Given the description of an element on the screen output the (x, y) to click on. 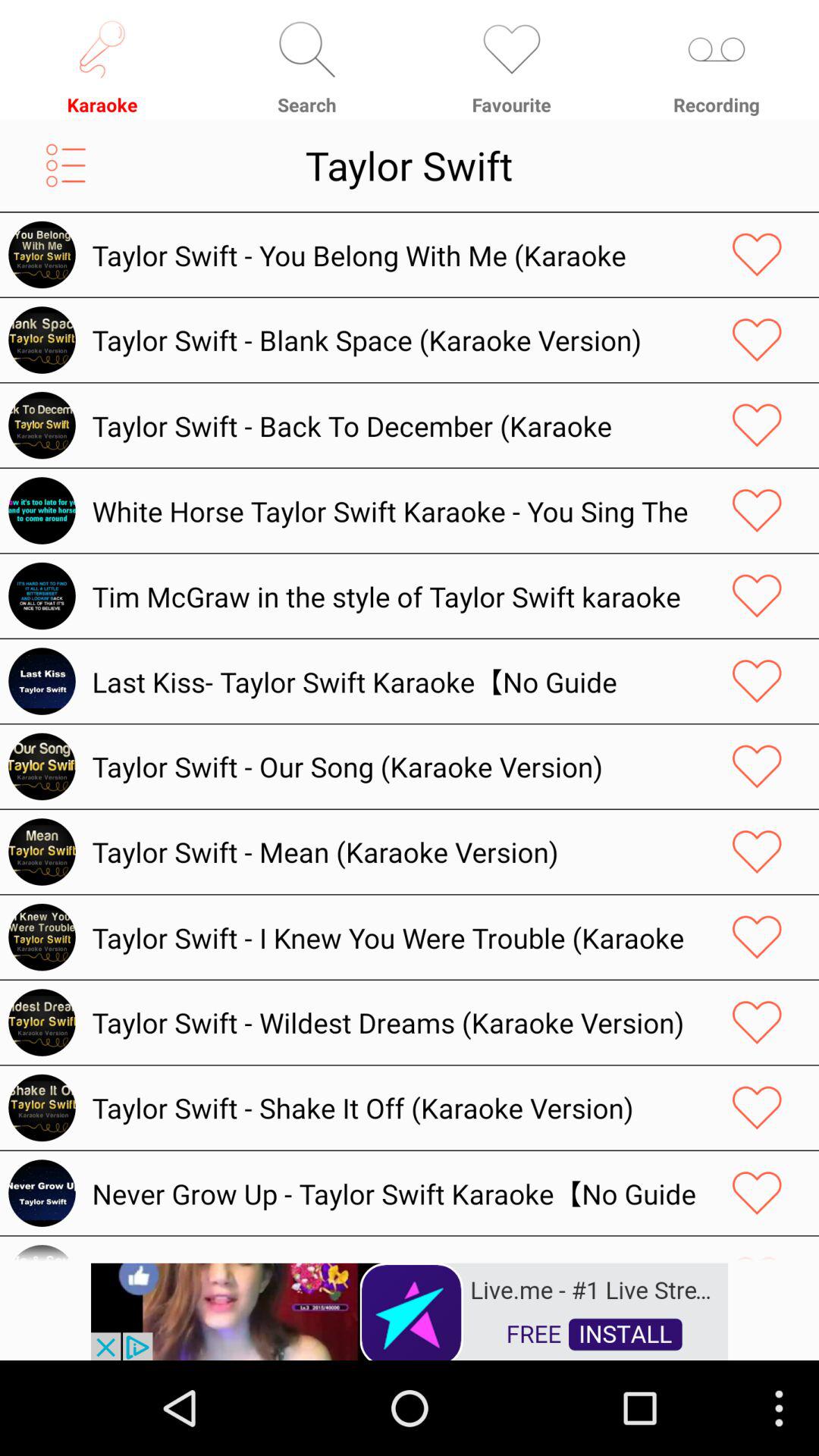
add song to favorites (756, 937)
